Given the description of an element on the screen output the (x, y) to click on. 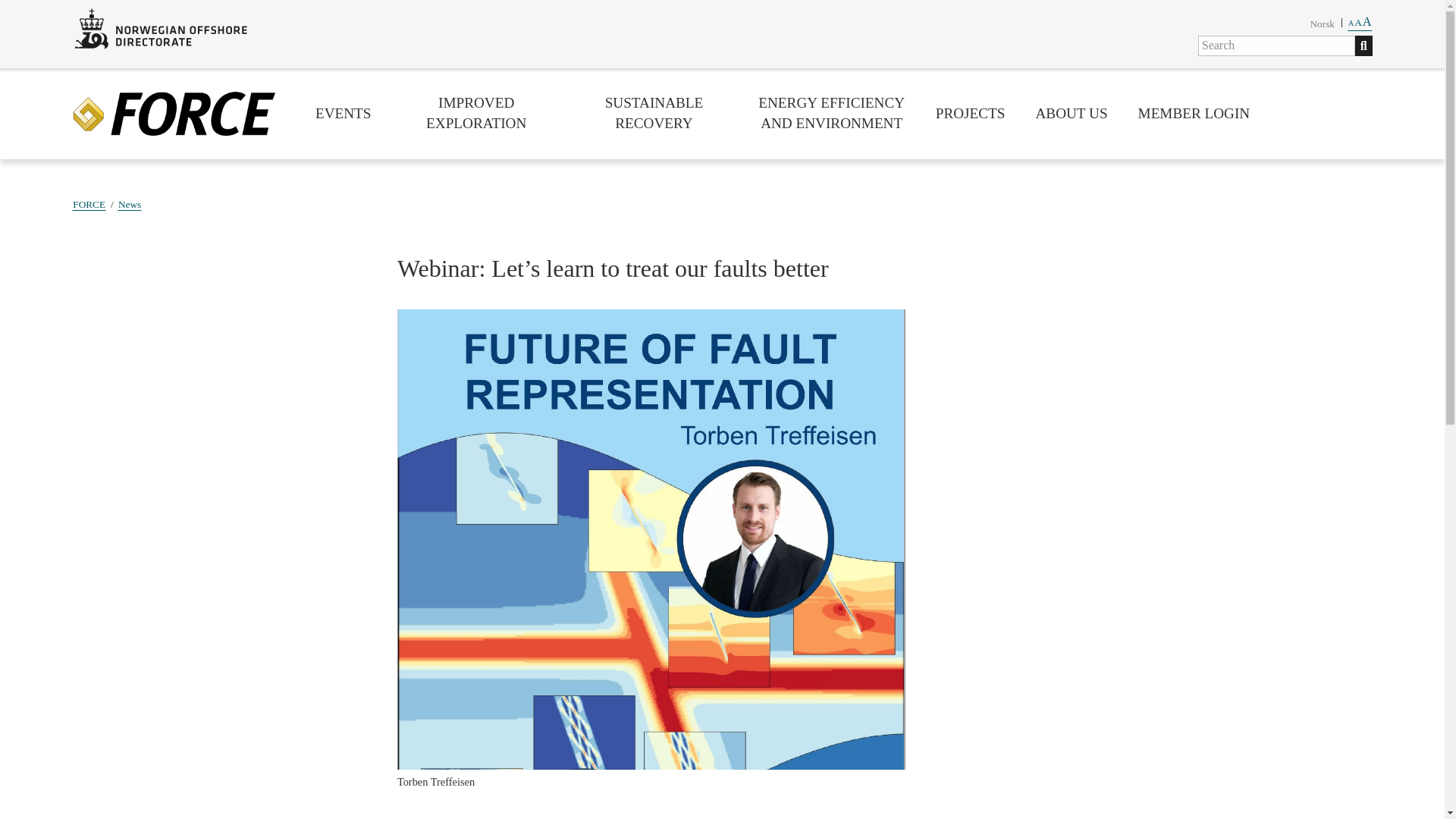
ABOUT US (1071, 113)
Norwegian Offshore Directorate (160, 28)
Text size adjustment (1360, 21)
Force (1360, 21)
MEMBER LOGIN (173, 113)
Norsk (1194, 113)
ENERGY EFFICIENCY AND ENVIRONMENT (1321, 23)
SUSTAINABLE RECOVERY (832, 113)
EVENTS (653, 113)
